Given the description of an element on the screen output the (x, y) to click on. 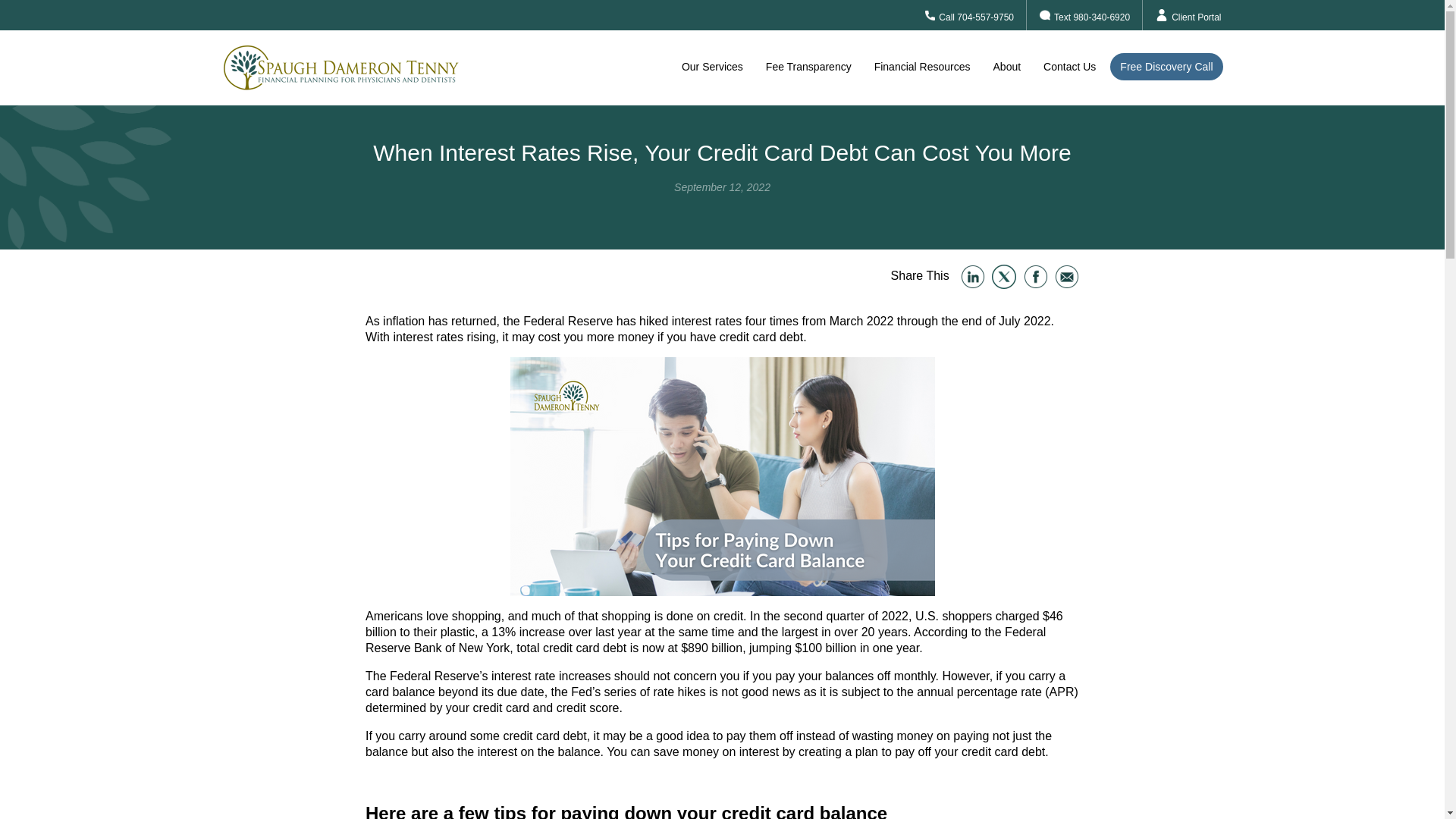
Financial Resources (923, 66)
Text 980-340-6920 (1084, 14)
Free Discovery Call (1166, 66)
Call 704-557-9750 (968, 14)
Fee Transparency (808, 66)
Client Portal (1188, 14)
